Given the description of an element on the screen output the (x, y) to click on. 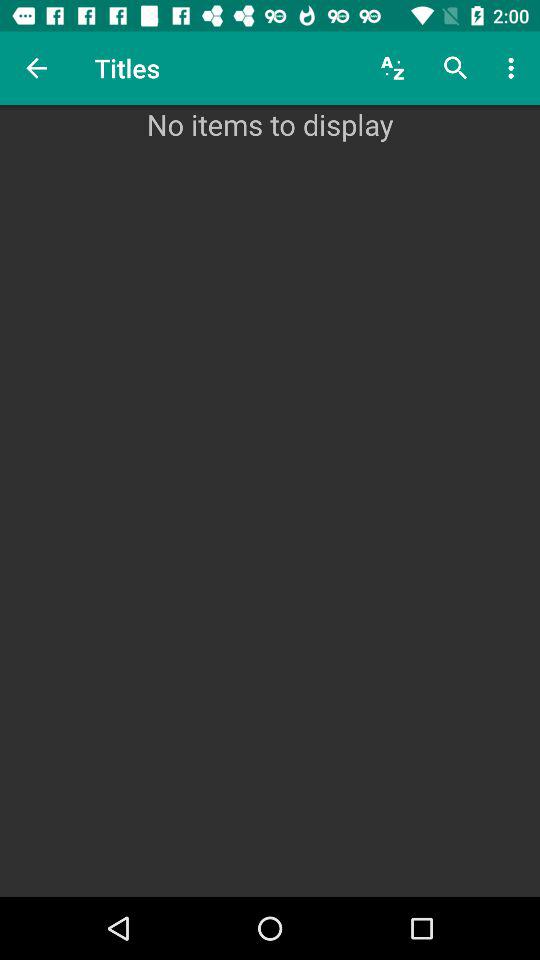
tap icon next to the titles (36, 68)
